Given the description of an element on the screen output the (x, y) to click on. 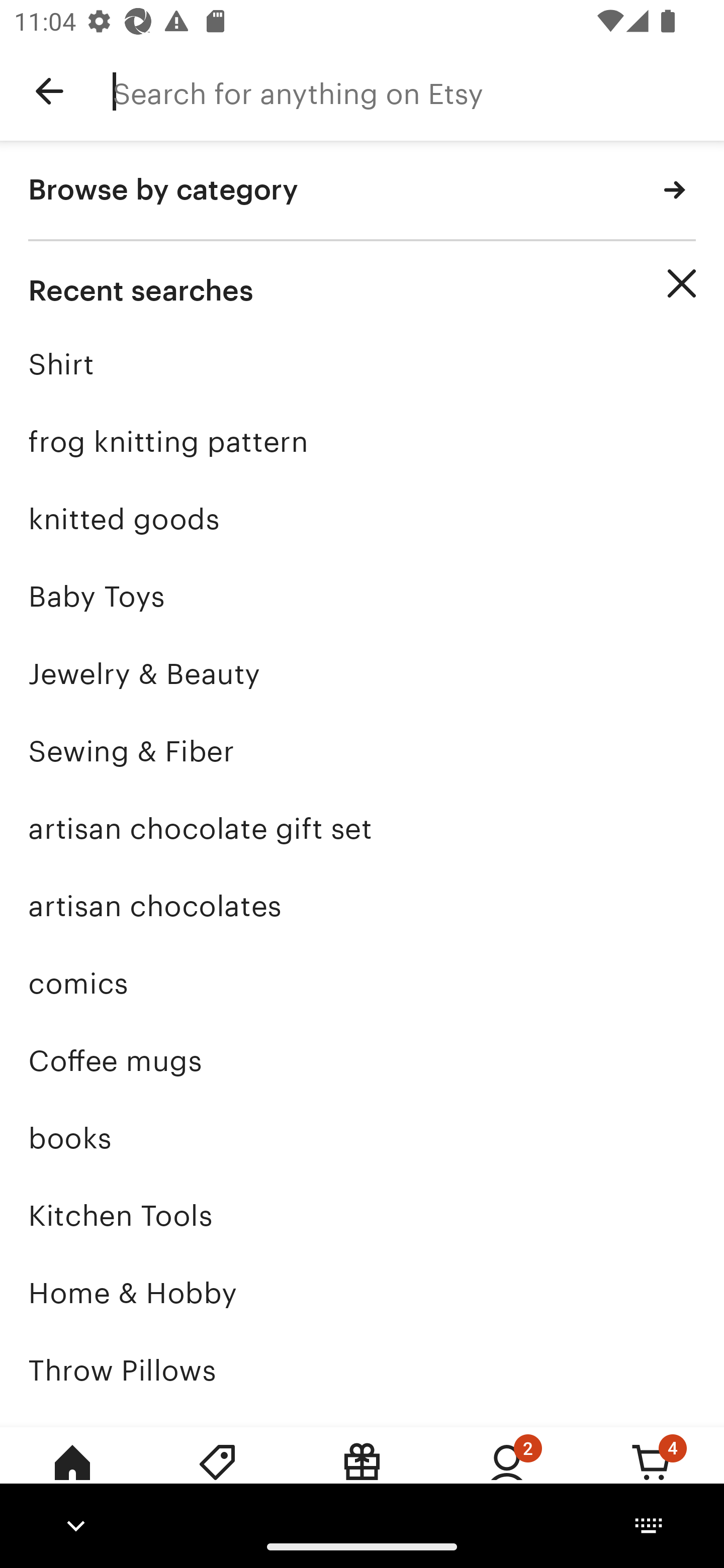
Navigate up (49, 91)
Search for anything on Etsy (418, 91)
Browse by category (362, 191)
Clear (681, 283)
Shirt (362, 364)
frog knitting pattern (362, 440)
knitted goods (362, 518)
Baby Toys (362, 596)
Jewelry & Beauty (362, 673)
Sewing & Fiber (362, 750)
artisan chocolate gift set (362, 828)
artisan chocolates (362, 906)
comics (362, 983)
Coffee mugs (362, 1060)
books (362, 1138)
Kitchen Tools (362, 1215)
Home & Hobby (362, 1292)
Throw Pillows (362, 1370)
Deals (216, 1475)
Gift Mode (361, 1475)
You, 2 new notifications (506, 1475)
Cart, 4 new notifications (651, 1475)
